Given the description of an element on the screen output the (x, y) to click on. 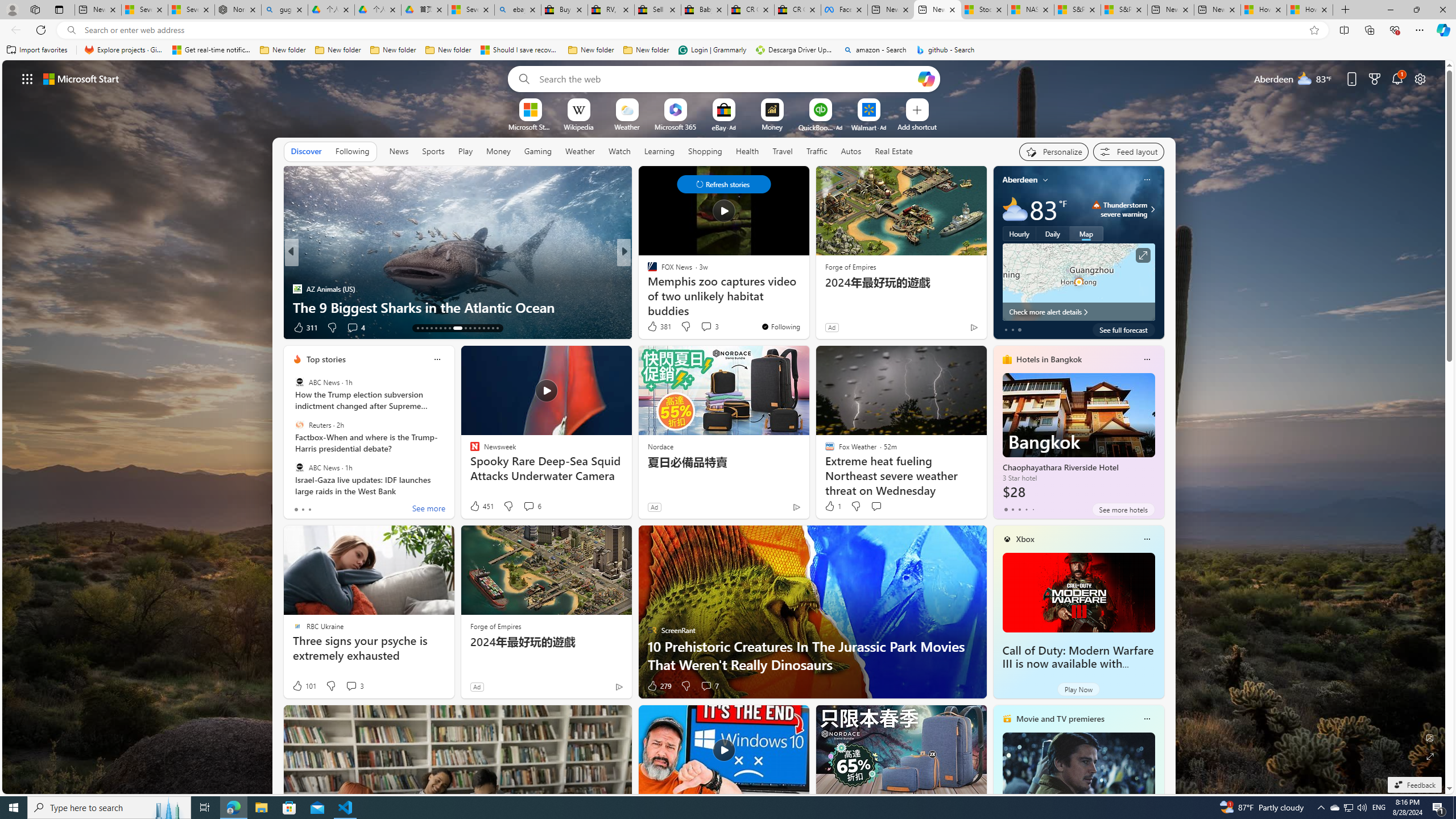
Settings and more (Alt+F) (1419, 29)
AutomationID: tab-28 (492, 328)
Enter your search term (726, 78)
AutomationID: tab-21 (454, 328)
Search icon (70, 29)
Watch (619, 151)
Chaophayathara Riverside Hotel (1077, 436)
Tab actions menu (58, 9)
tab-2 (1019, 509)
Forge of Empires (495, 625)
Reuters (299, 424)
Top stories (325, 359)
